Given the description of an element on the screen output the (x, y) to click on. 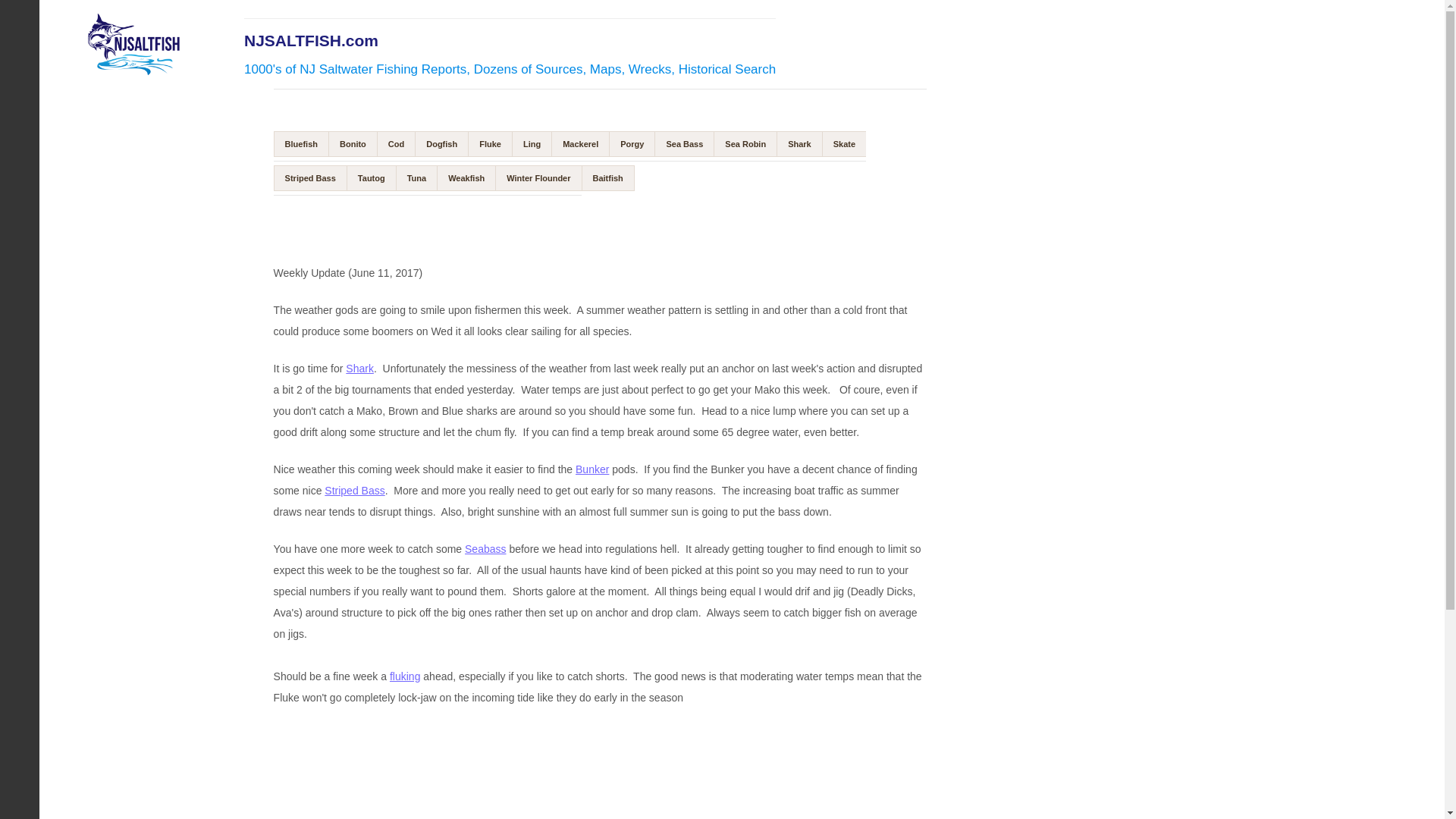
Bonito (353, 144)
fluking (405, 676)
Advertisement (443, 219)
Bunker (591, 469)
Fluke (489, 144)
Tautog (371, 177)
Porgy (630, 144)
Mackerel (579, 144)
Sea Bass (683, 144)
Skate (844, 144)
